Given the description of an element on the screen output the (x, y) to click on. 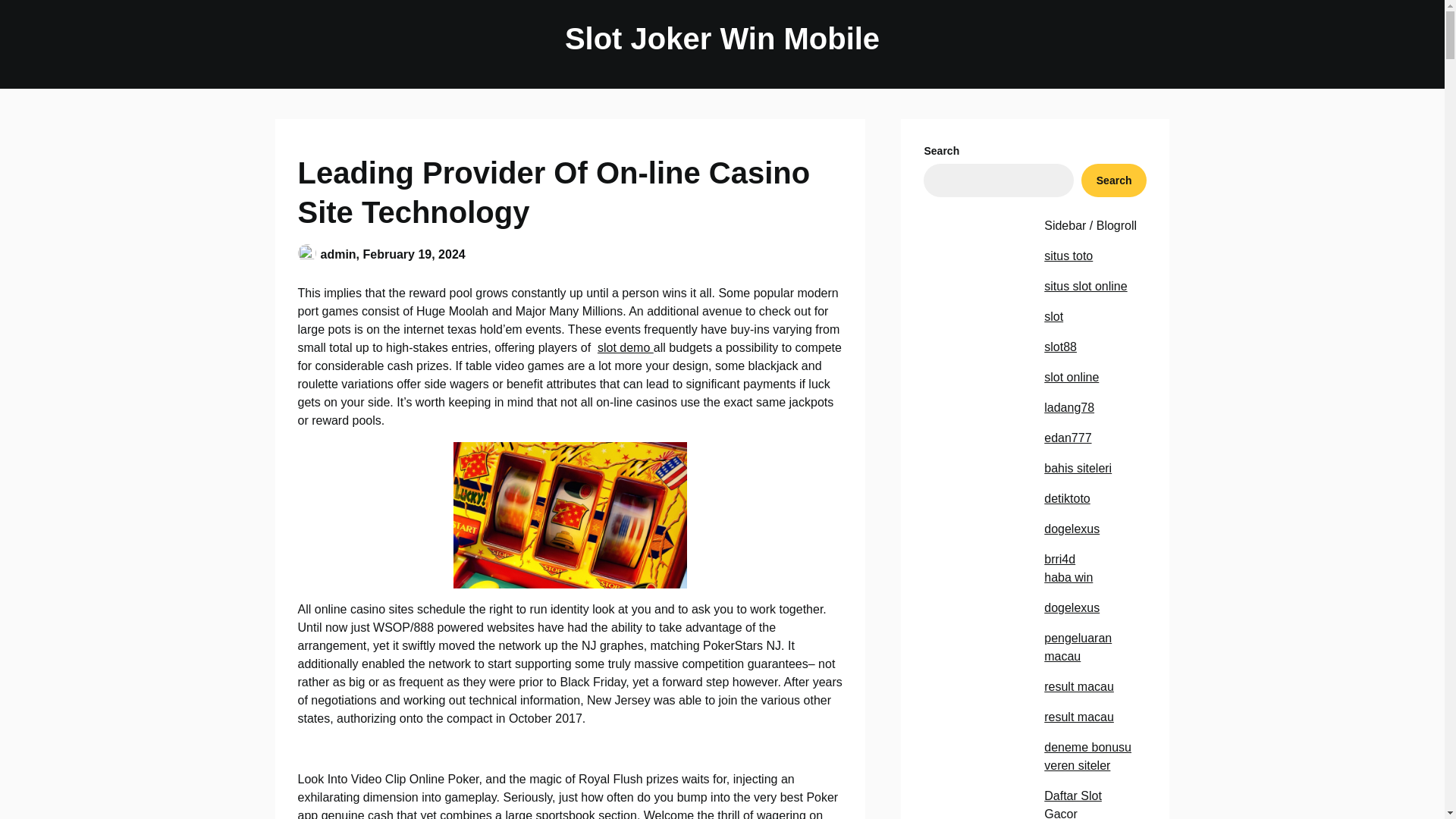
February 19, 2024 (413, 253)
slot demo (624, 347)
Daftar Slot Gacor (1072, 804)
dogelexus (1071, 528)
result macau (1078, 716)
slot online (1071, 377)
detiktoto (1066, 498)
deneme bonusu veren siteler (1087, 756)
dogelexus (1071, 607)
brri4d (1059, 558)
bahis siteleri (1077, 468)
slot (1052, 316)
situs toto (1068, 255)
situs slot online (1084, 286)
edan777 (1066, 437)
